Given the description of an element on the screen output the (x, y) to click on. 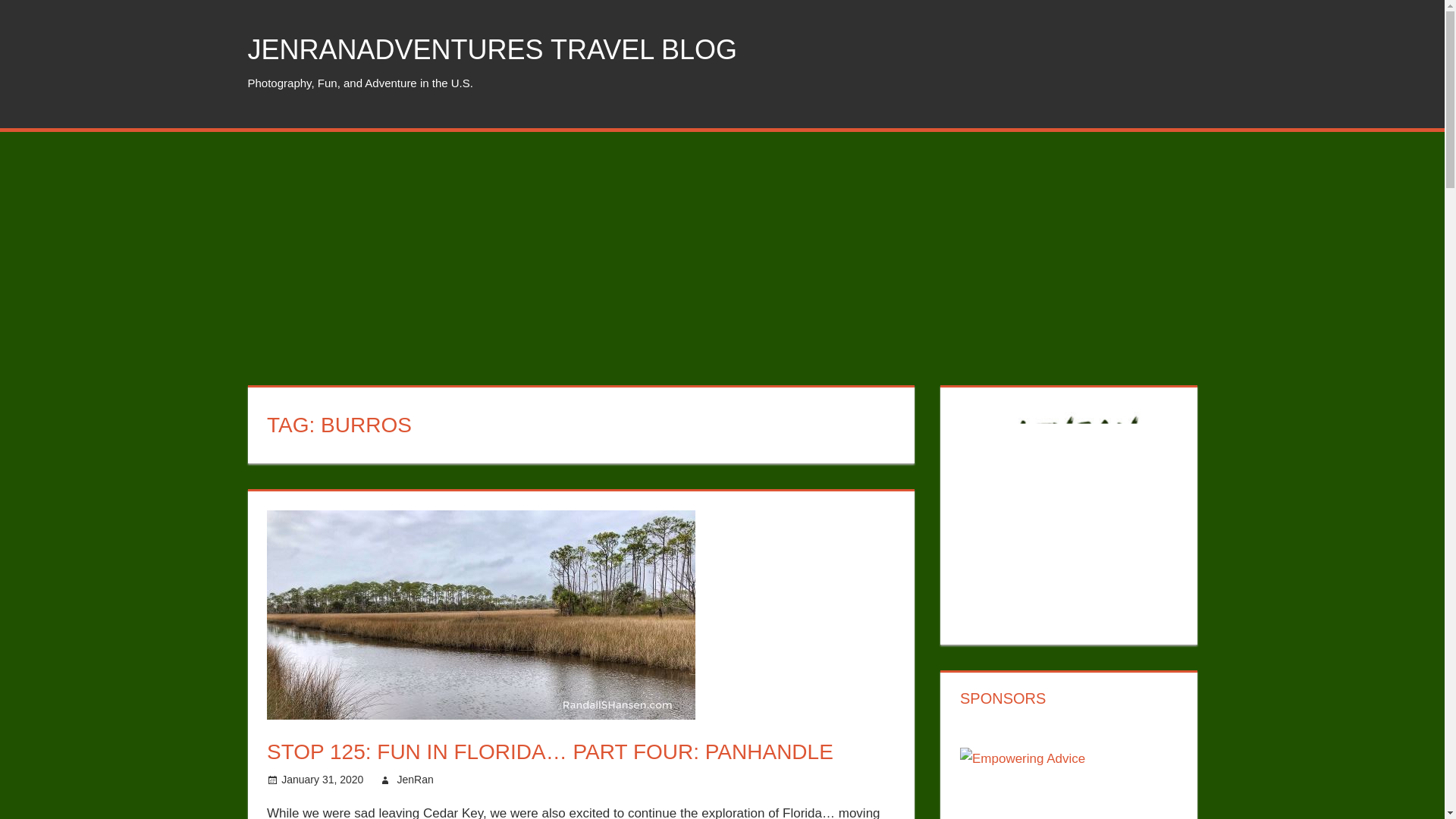
JenRan (414, 779)
January 31, 2020 (321, 779)
3:33 pm (321, 779)
View all posts by JenRan (414, 779)
Leave a comment (509, 779)
Uncategorized (501, 779)
JENRANADVENTURES TRAVEL BLOG (491, 49)
